Given the description of an element on the screen output the (x, y) to click on. 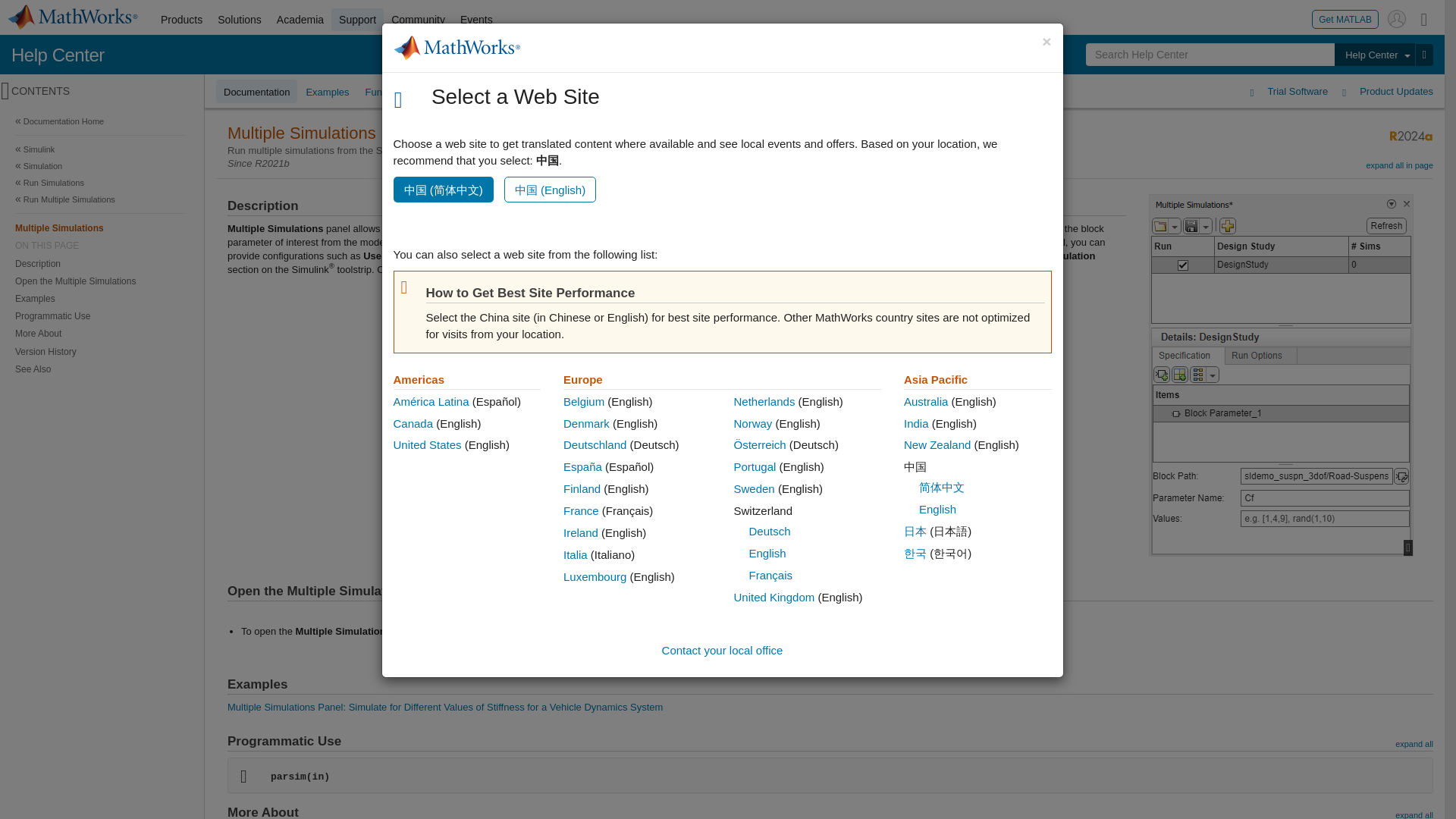
Matrix Menu (1423, 18)
Events (476, 19)
ON THIS PAGE (100, 245)
Products (180, 19)
Solutions (239, 19)
Community (418, 19)
Academia (300, 19)
Sign In to Your MathWorks Account (1396, 18)
Get MATLAB (1344, 18)
Support (357, 19)
Multiple Simulations (100, 227)
